Given the description of an element on the screen output the (x, y) to click on. 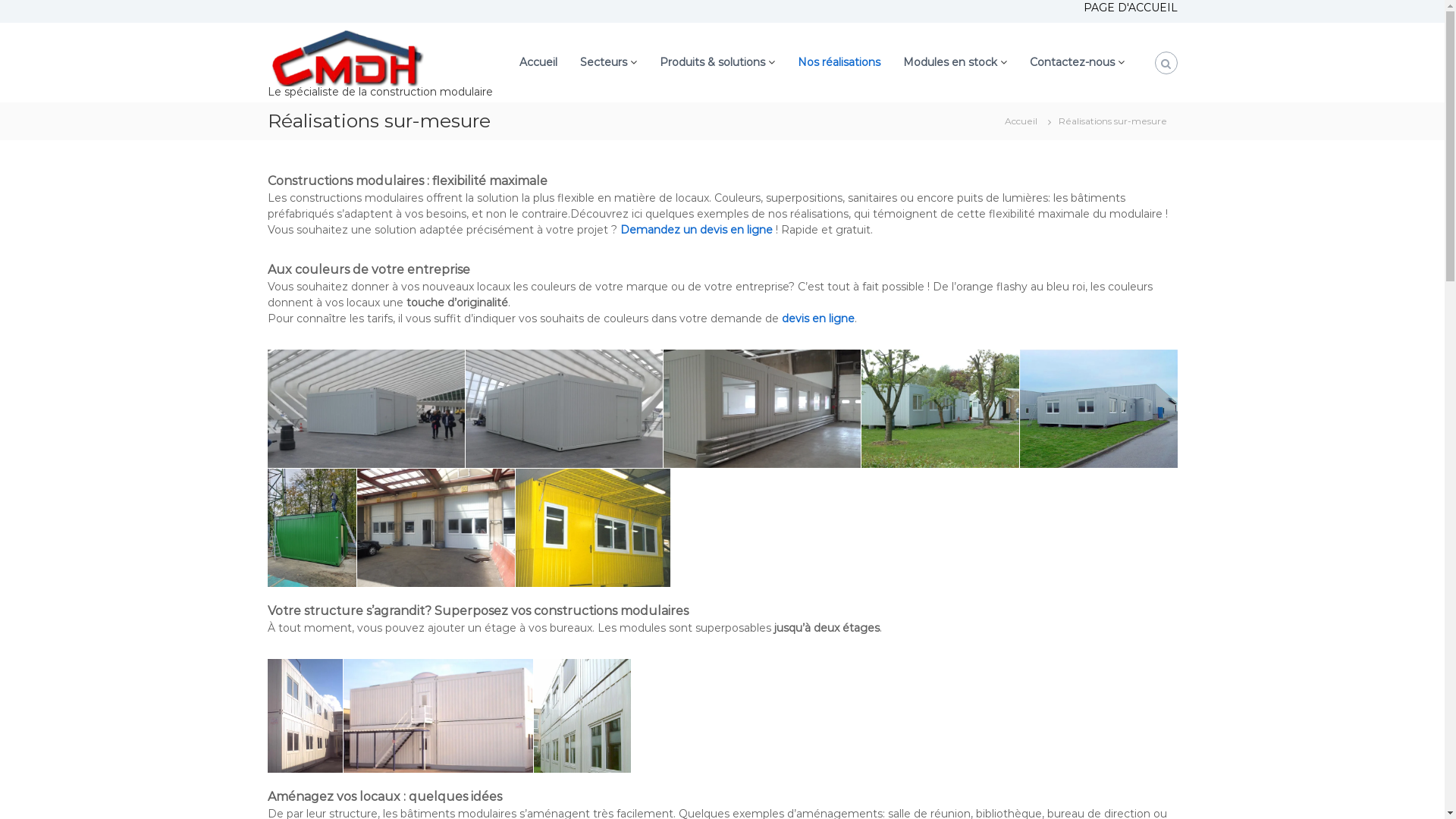
Demandez un devis en ligne Element type: text (696, 229)
Accueil Element type: text (1020, 120)
Modules en stock Element type: text (949, 62)
Module de bureau CMDH Element type: hover (1097, 407)
Produits & solutions Element type: text (712, 62)
Modulaire CMDH Element type: hover (940, 407)
devis en ligne Element type: text (817, 317)
Accueil Element type: text (537, 62)
3-construction-modulaire-a-etage-cmdh (1) Element type: hover (581, 714)
Contactez-nous Element type: text (1071, 62)
2-batiments-prefabriques-a-etage-cmdh (1) Element type: hover (304, 714)
3-construction-modulaire-jaune-cmdh Element type: hover (592, 527)
Secteurs Element type: text (602, 62)
1-construction-modulaire-superposable-cmdh Element type: hover (437, 714)
PAGE D'ACCUEIL Element type: text (1129, 7)
